Given the description of an element on the screen output the (x, y) to click on. 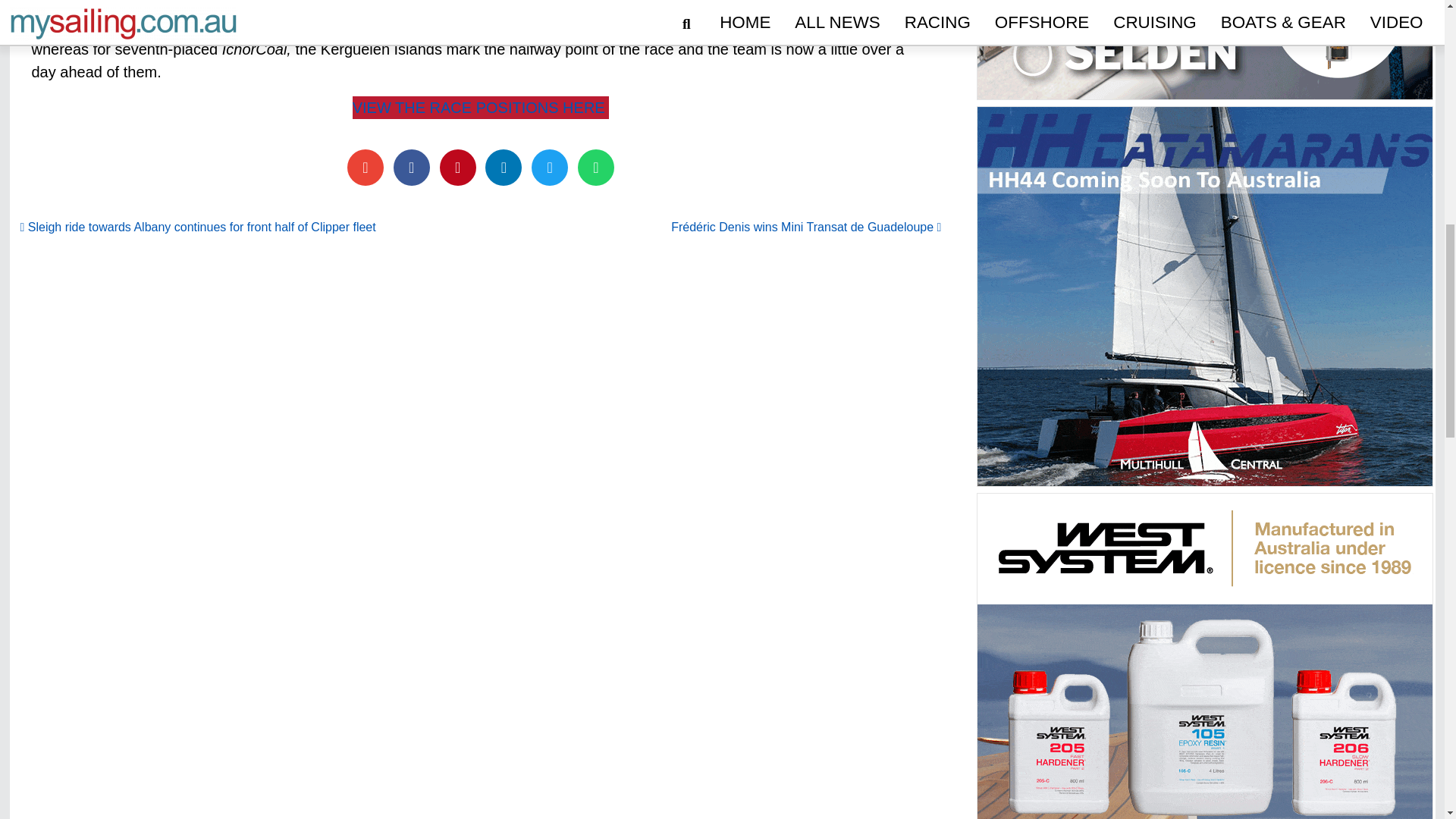
2024-25 NSW Cherub State Champs (472, 729)
Action on water and ashore at Airlie Beach Race Week (1100, 729)
Share by Email (365, 167)
VIEW THE RACE POSITIONS HERE  (481, 107)
Record Fleet at the M32 Europeans (787, 729)
